Given the description of an element on the screen output the (x, y) to click on. 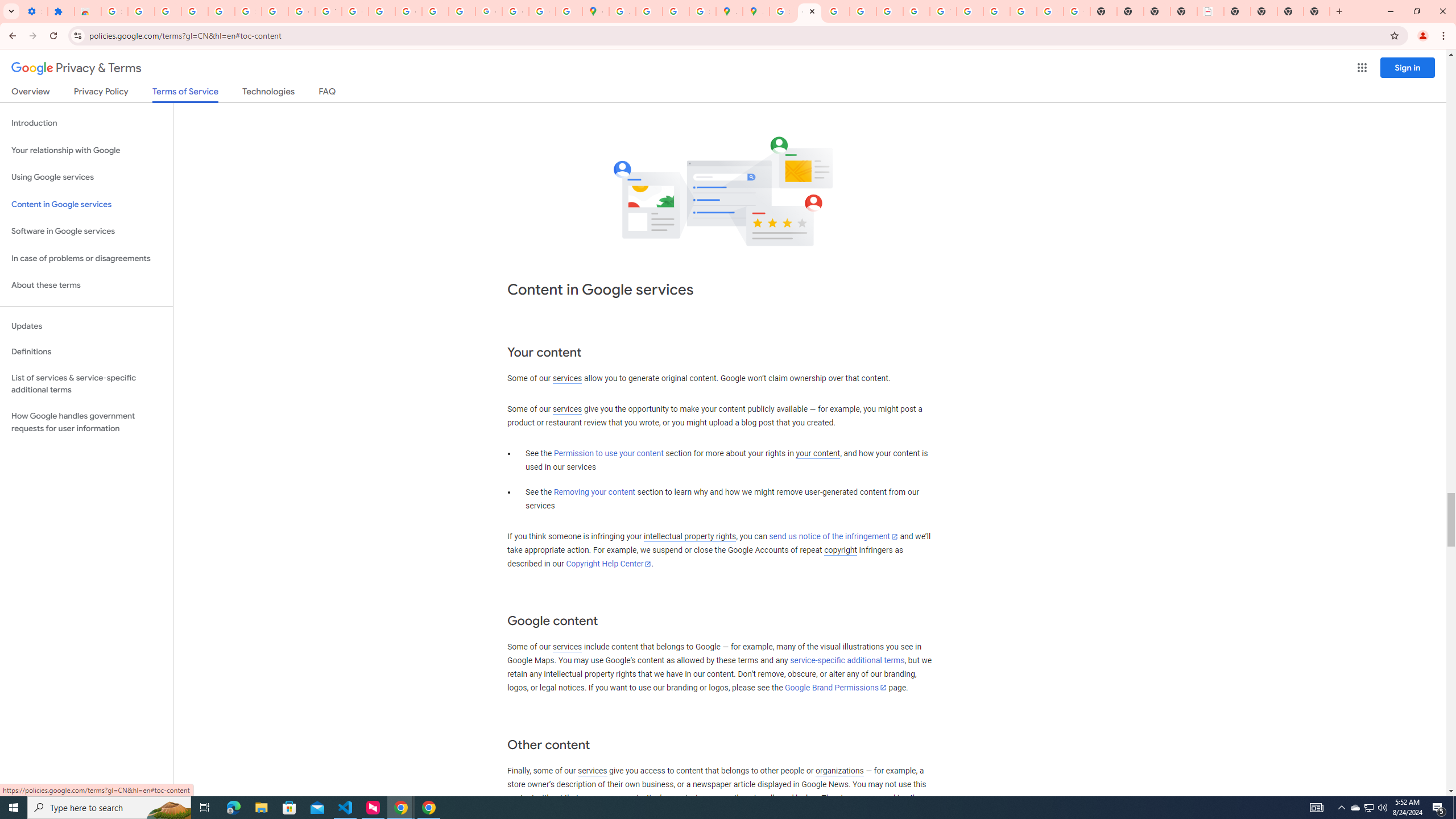
organizations (839, 770)
Google Brand Permissions (835, 687)
services (591, 770)
